Given the description of an element on the screen output the (x, y) to click on. 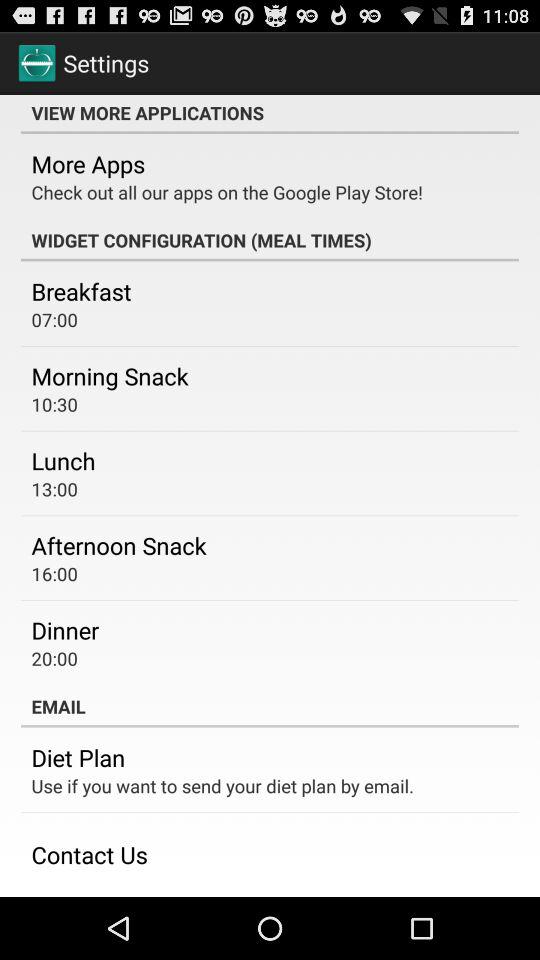
scroll to the 10:30 (54, 403)
